Given the description of an element on the screen output the (x, y) to click on. 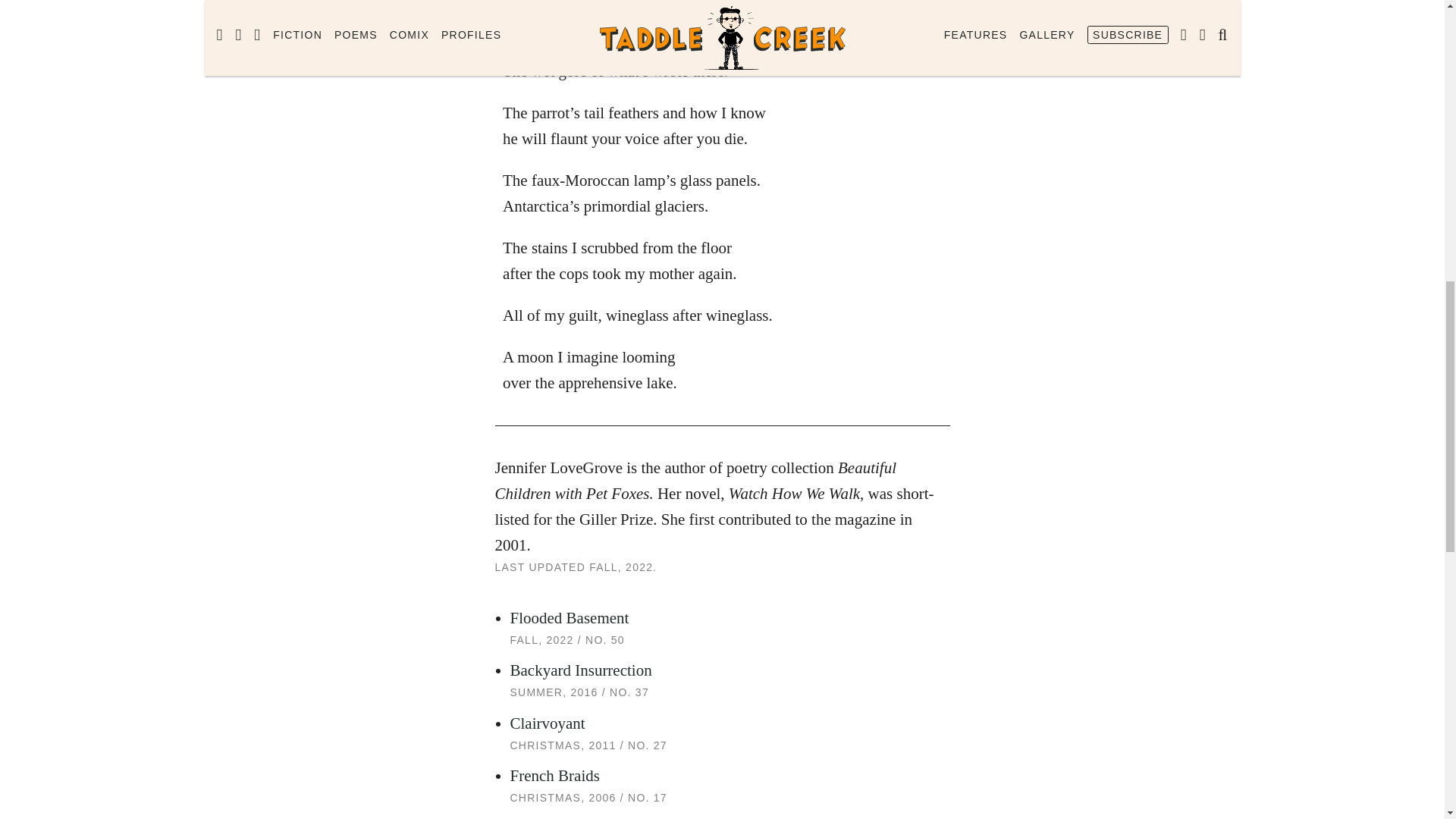
Clairvoyant (547, 723)
Flooded Basement (568, 618)
Backyard Insurrection (579, 669)
French Braids (553, 775)
